Given the description of an element on the screen output the (x, y) to click on. 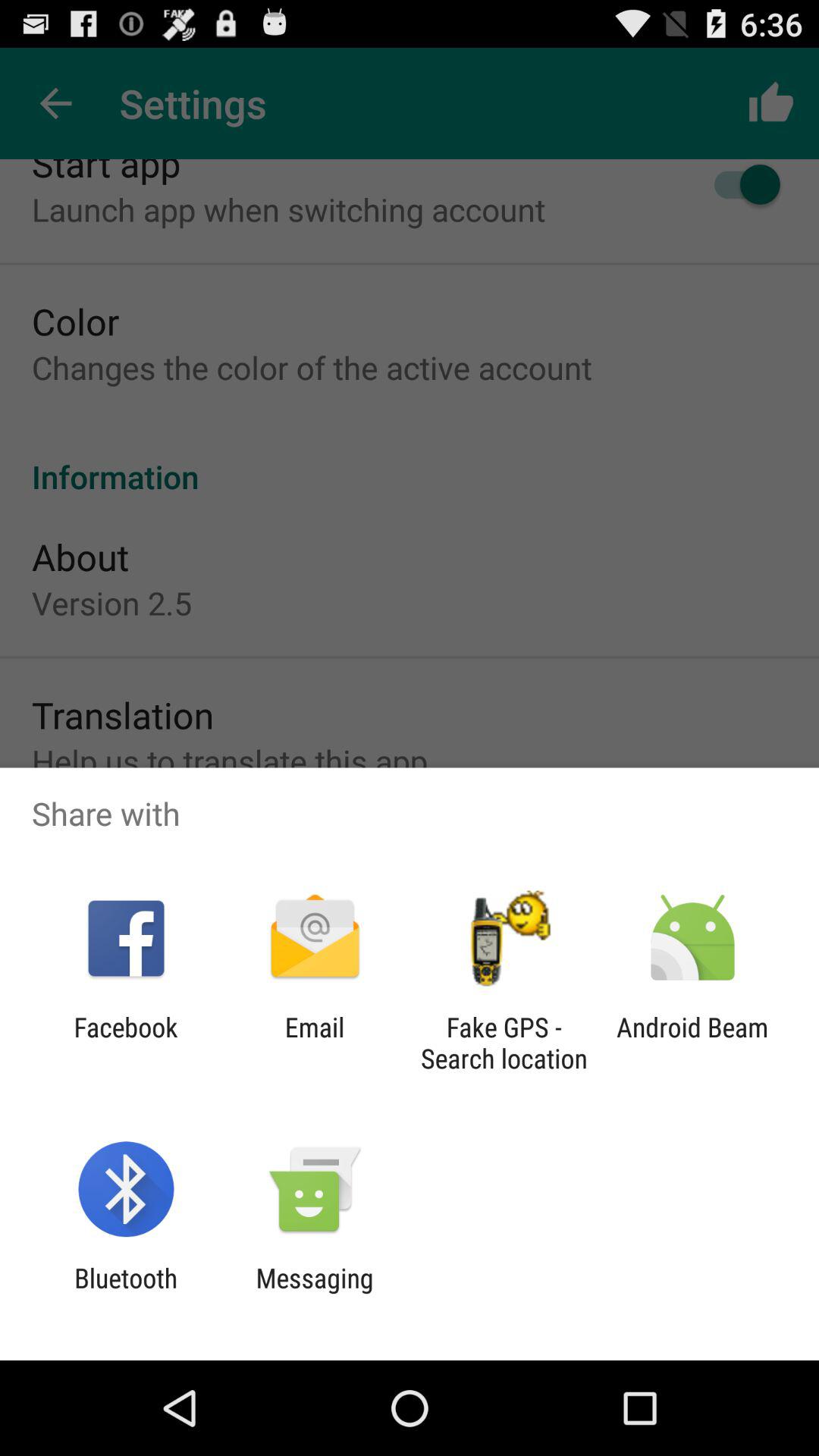
press the app to the left of the android beam (503, 1042)
